Given the description of an element on the screen output the (x, y) to click on. 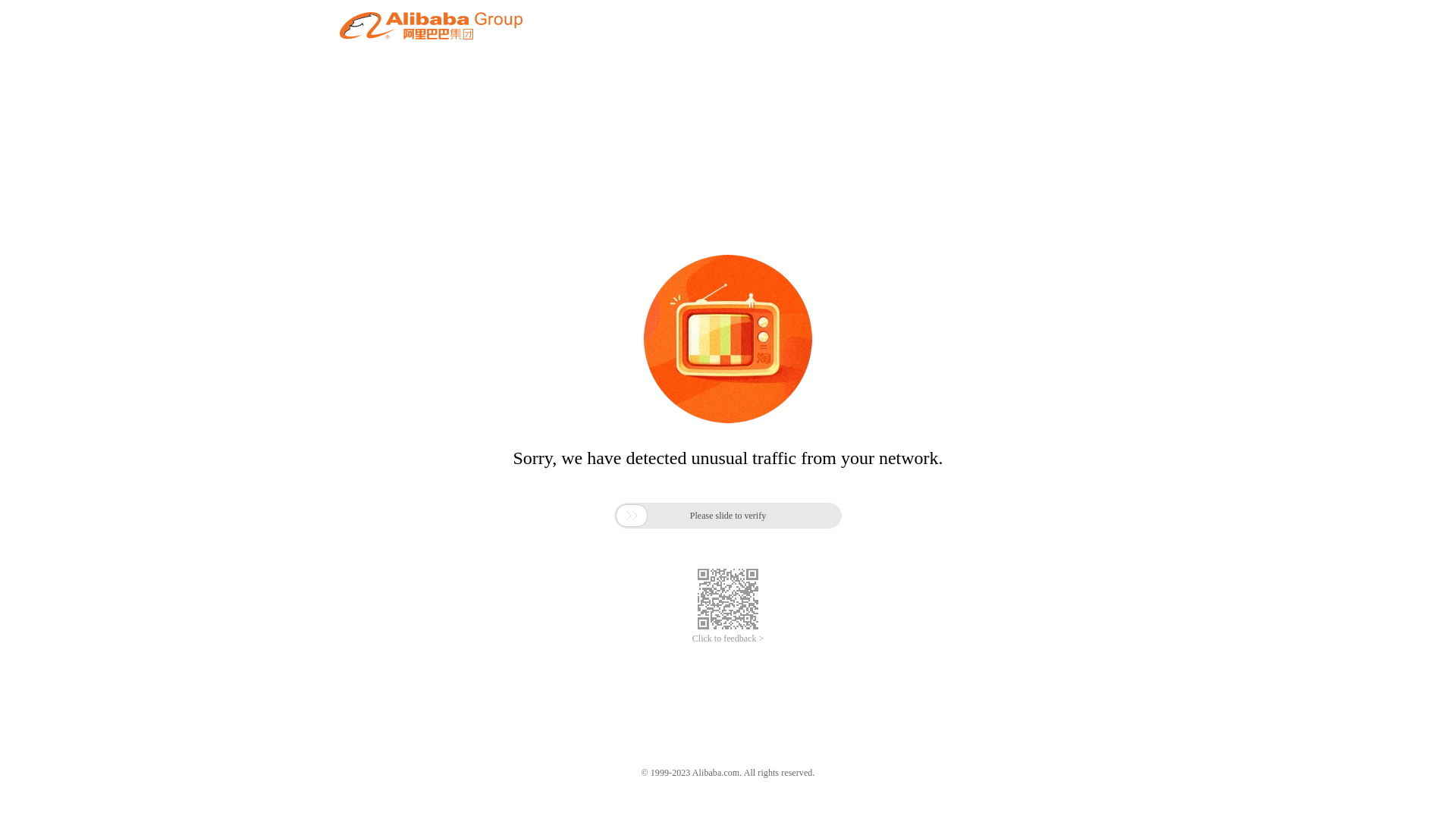
Click to feedback > Element type: text (727, 638)
